Given the description of an element on the screen output the (x, y) to click on. 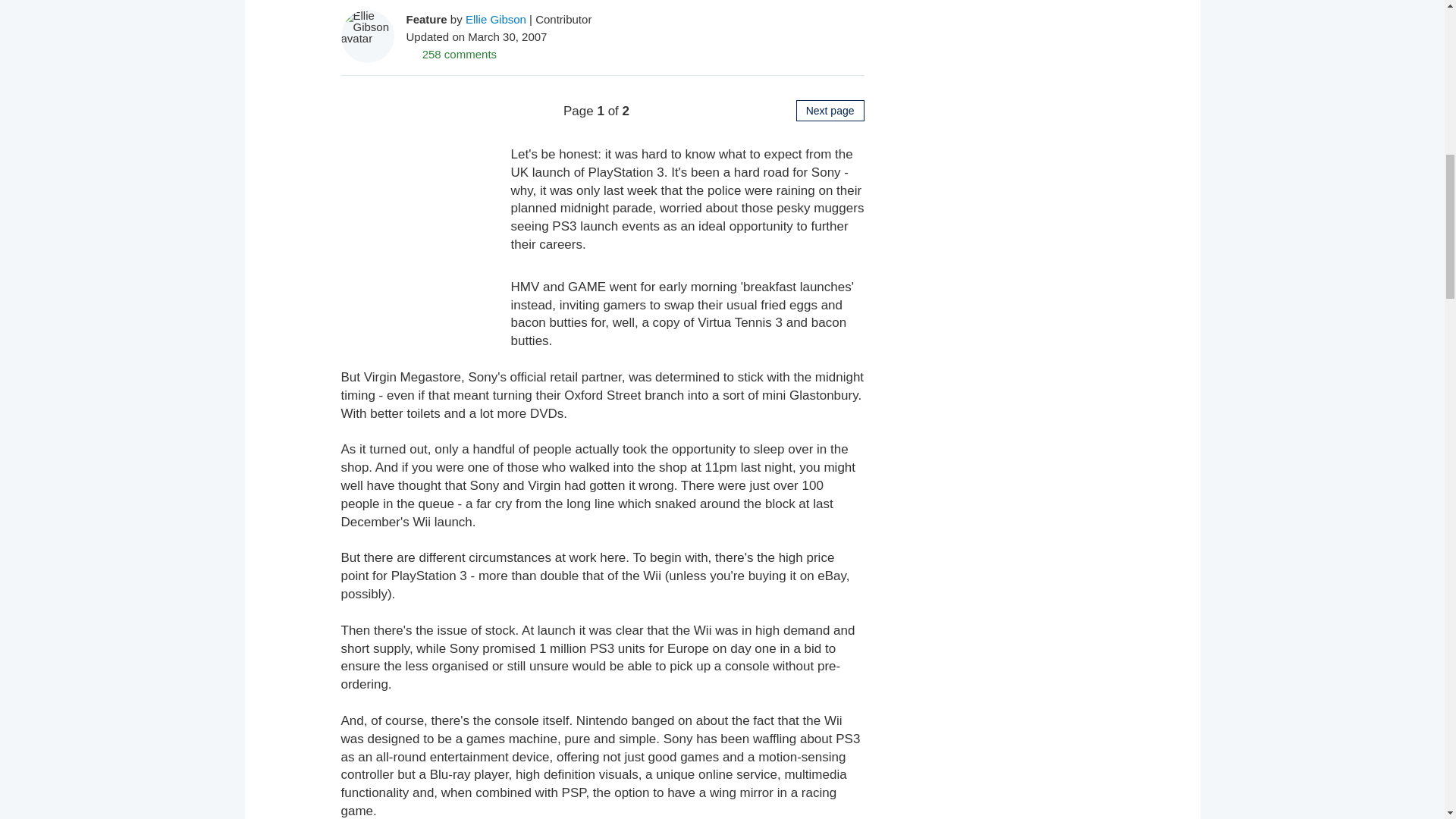
Next page (830, 110)
258 comments (451, 52)
Ellie Gibson (495, 18)
